Given the description of an element on the screen output the (x, y) to click on. 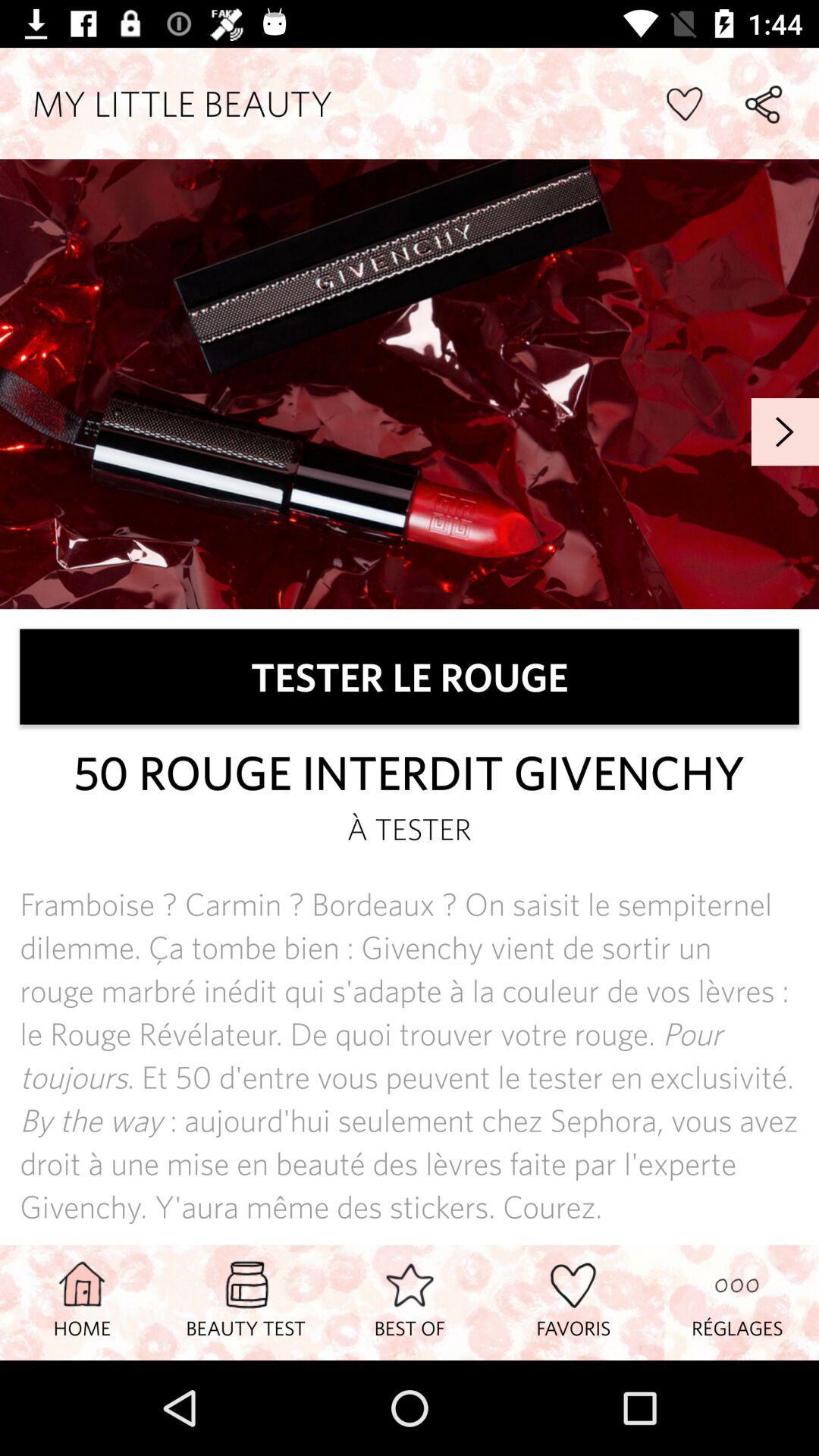
open framboise carmin bordeaux item (409, 1055)
